Given the description of an element on the screen output the (x, y) to click on. 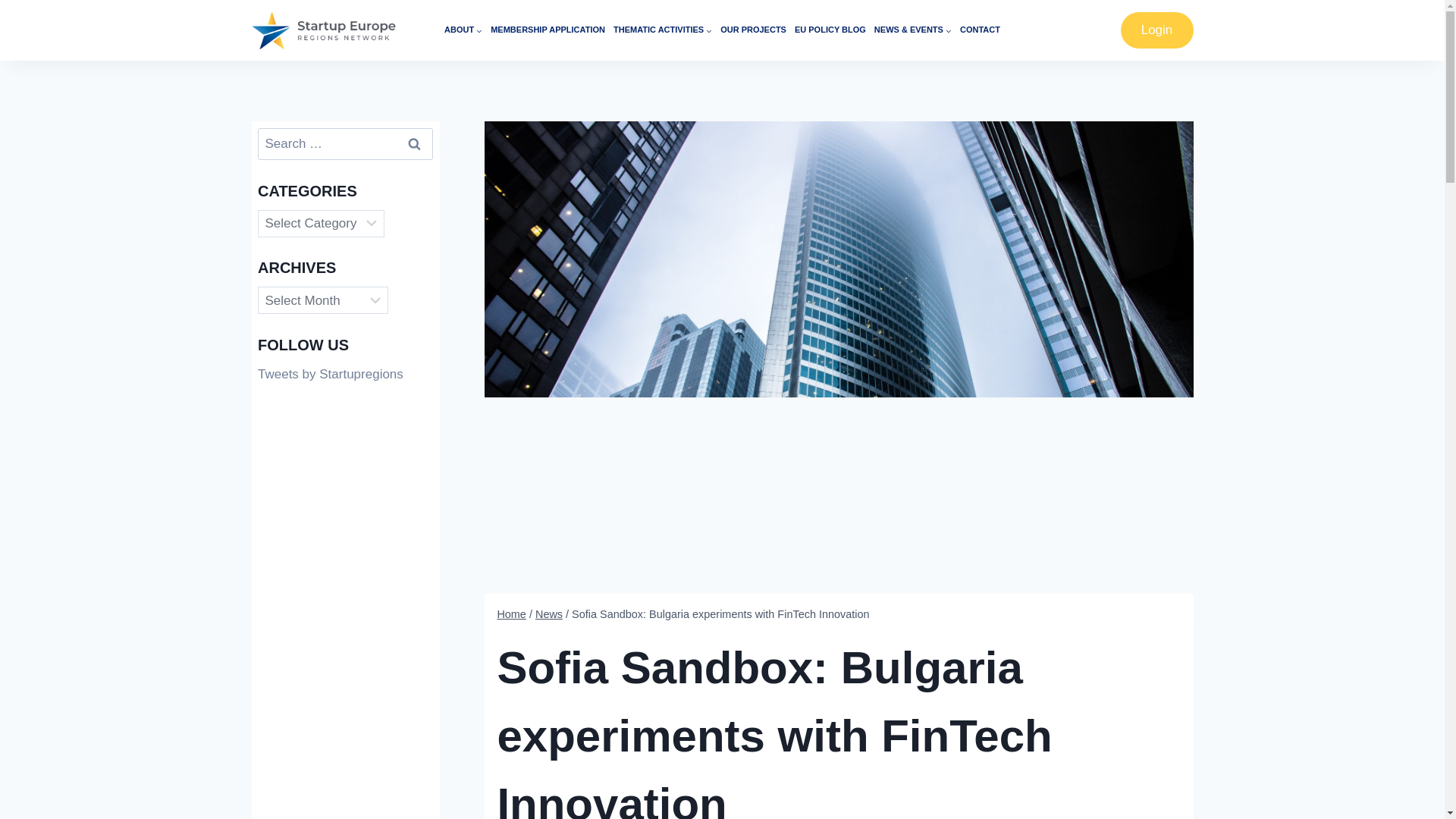
News (548, 613)
OUR PROJECTS (753, 30)
CONTACT (979, 30)
Login (1157, 30)
Home (510, 613)
Search (413, 143)
THEMATIC ACTIVITIES (662, 30)
EU POLICY BLOG (829, 30)
ABOUT (463, 30)
Search (413, 143)
